Given the description of an element on the screen output the (x, y) to click on. 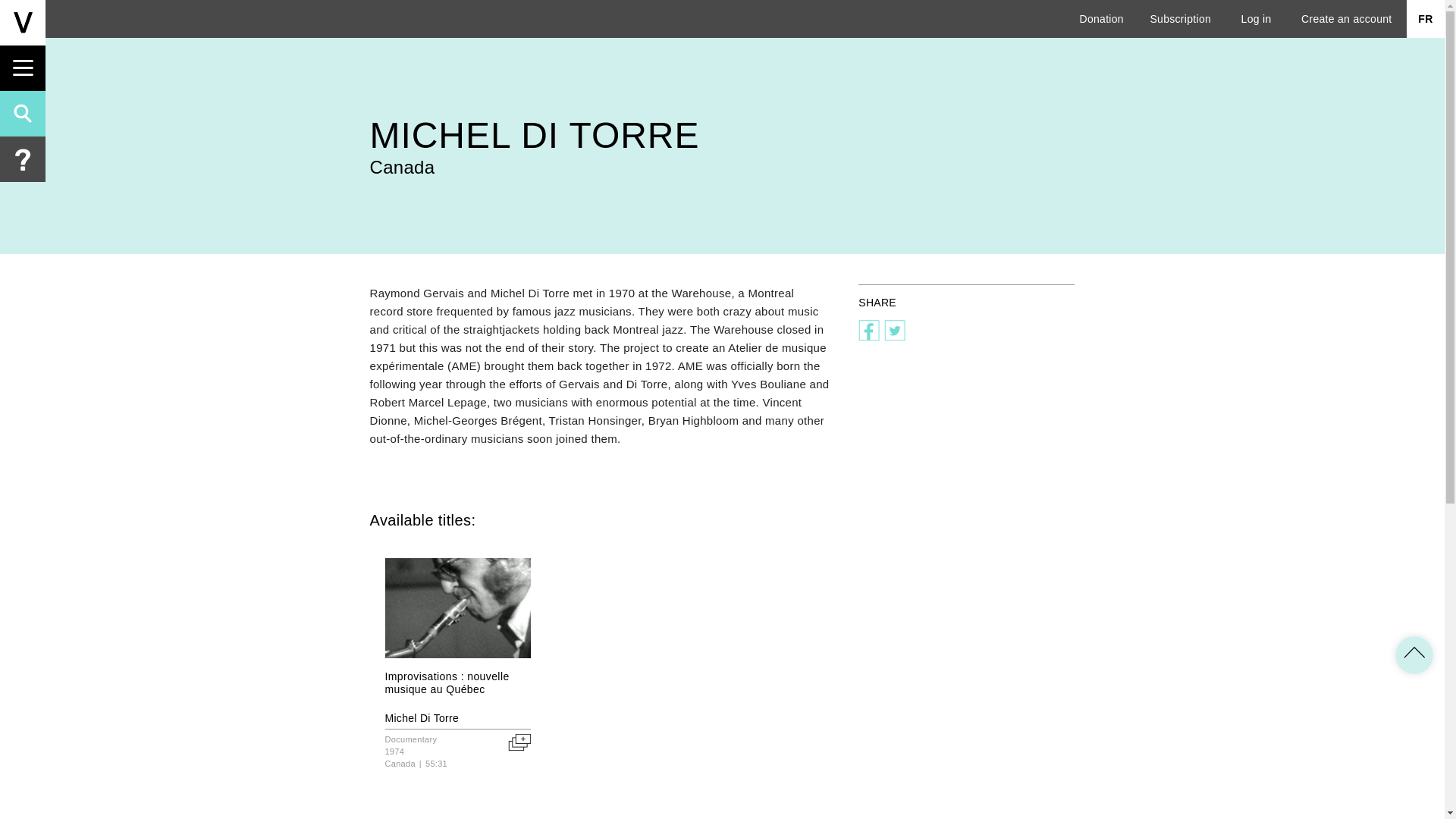
Subscription (1180, 18)
Donation (1102, 18)
Create an account (1346, 18)
Log in (1256, 18)
